Given the description of an element on the screen output the (x, y) to click on. 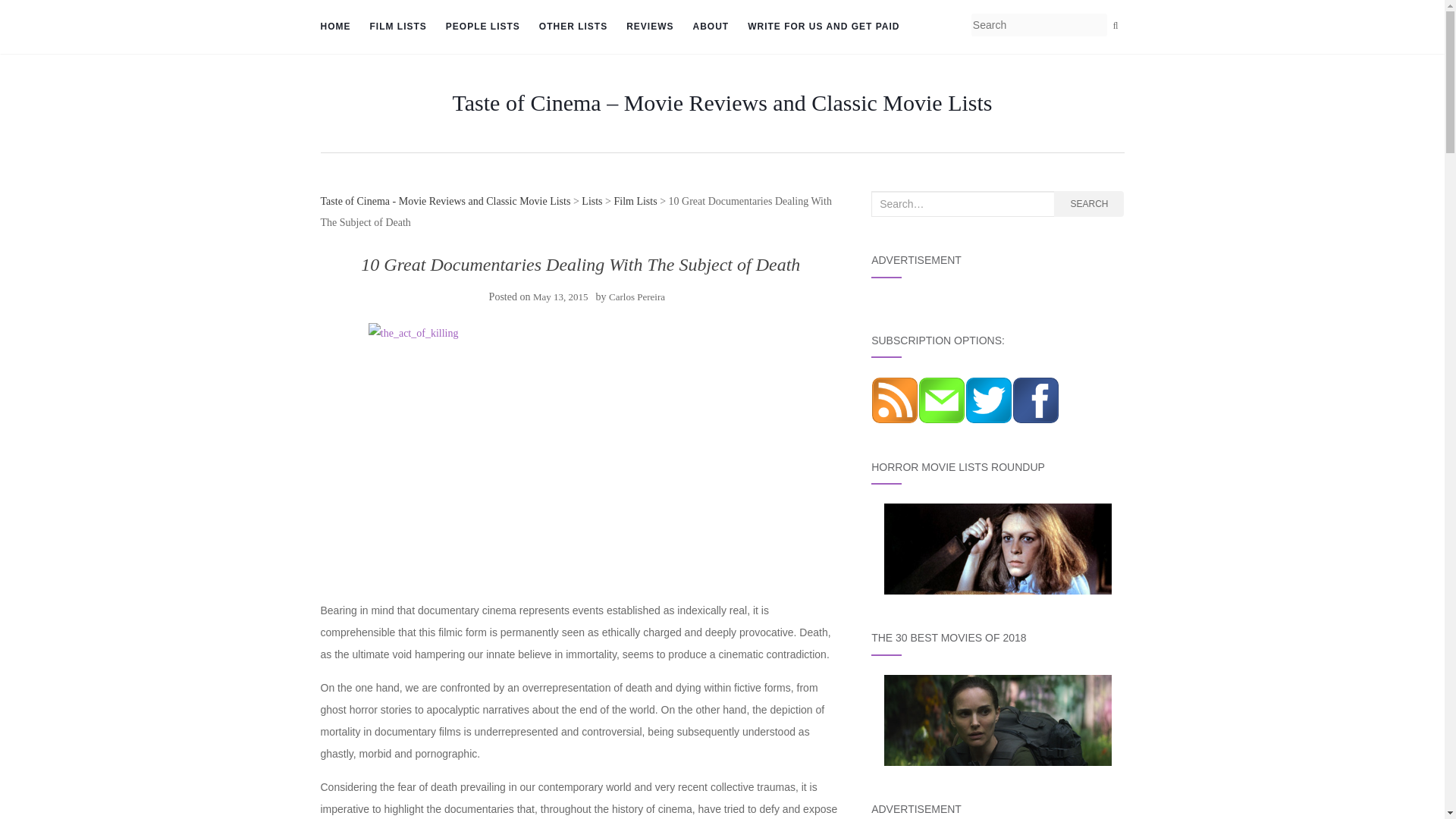
Subscribe via RSS (894, 398)
PEOPLE LISTS (482, 27)
People Lists (482, 27)
Write For Us and Get Paid (823, 27)
Lists (591, 201)
Carlos Pereira (636, 296)
Other Lists (572, 27)
Go to the Lists category archives. (591, 201)
May 13, 2015 (560, 296)
Taste of Cinema - Movie Reviews and Classic Movie Lists (445, 201)
